Given the description of an element on the screen output the (x, y) to click on. 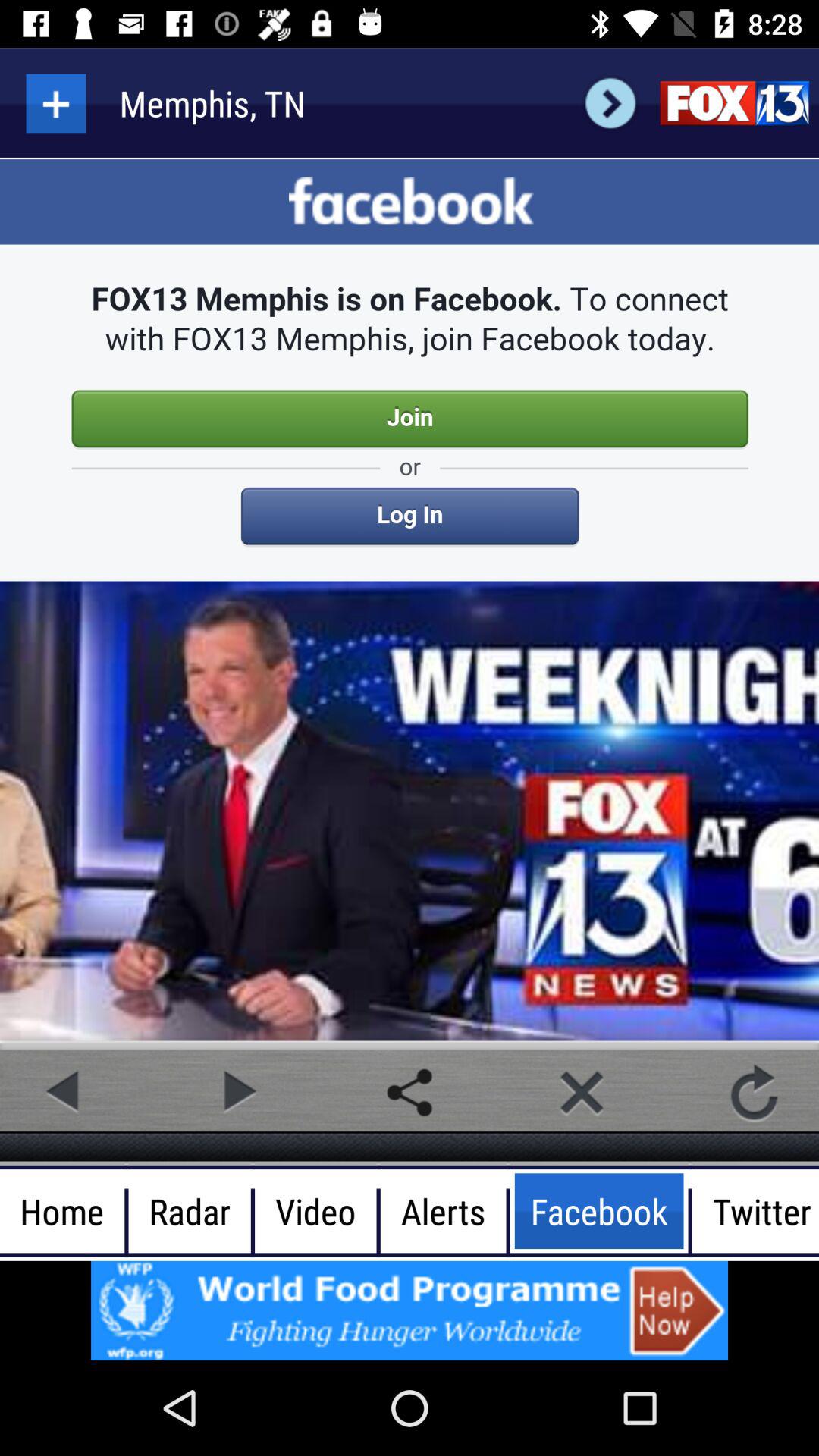
share online (409, 1092)
